Given the description of an element on the screen output the (x, y) to click on. 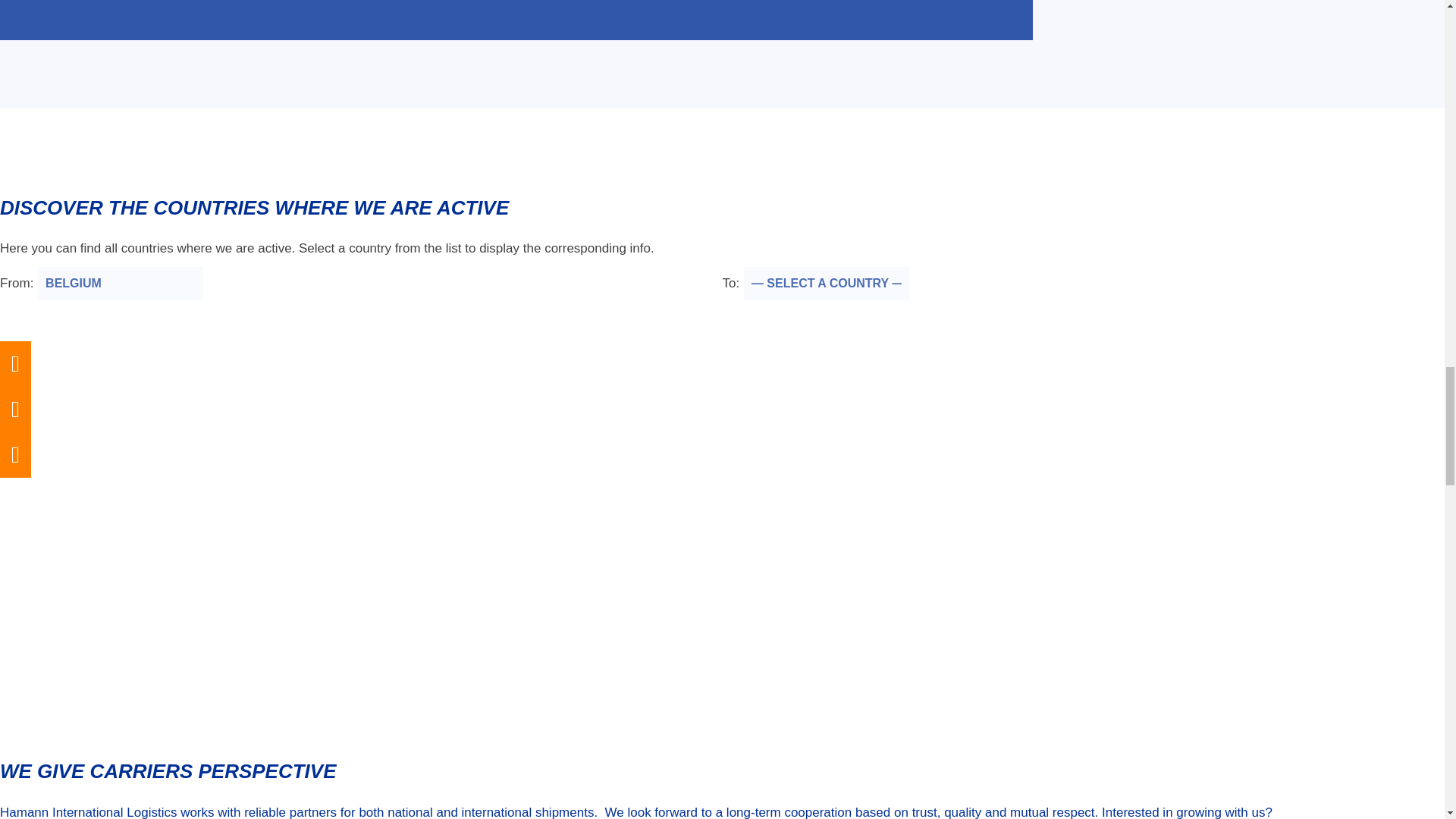
GENERAL CARGO (82, 20)
WAREHOUSING (630, 20)
EXTRA SERVICES (951, 20)
AUTOMOTIVE LOGISTICS (272, 20)
